Given the description of an element on the screen output the (x, y) to click on. 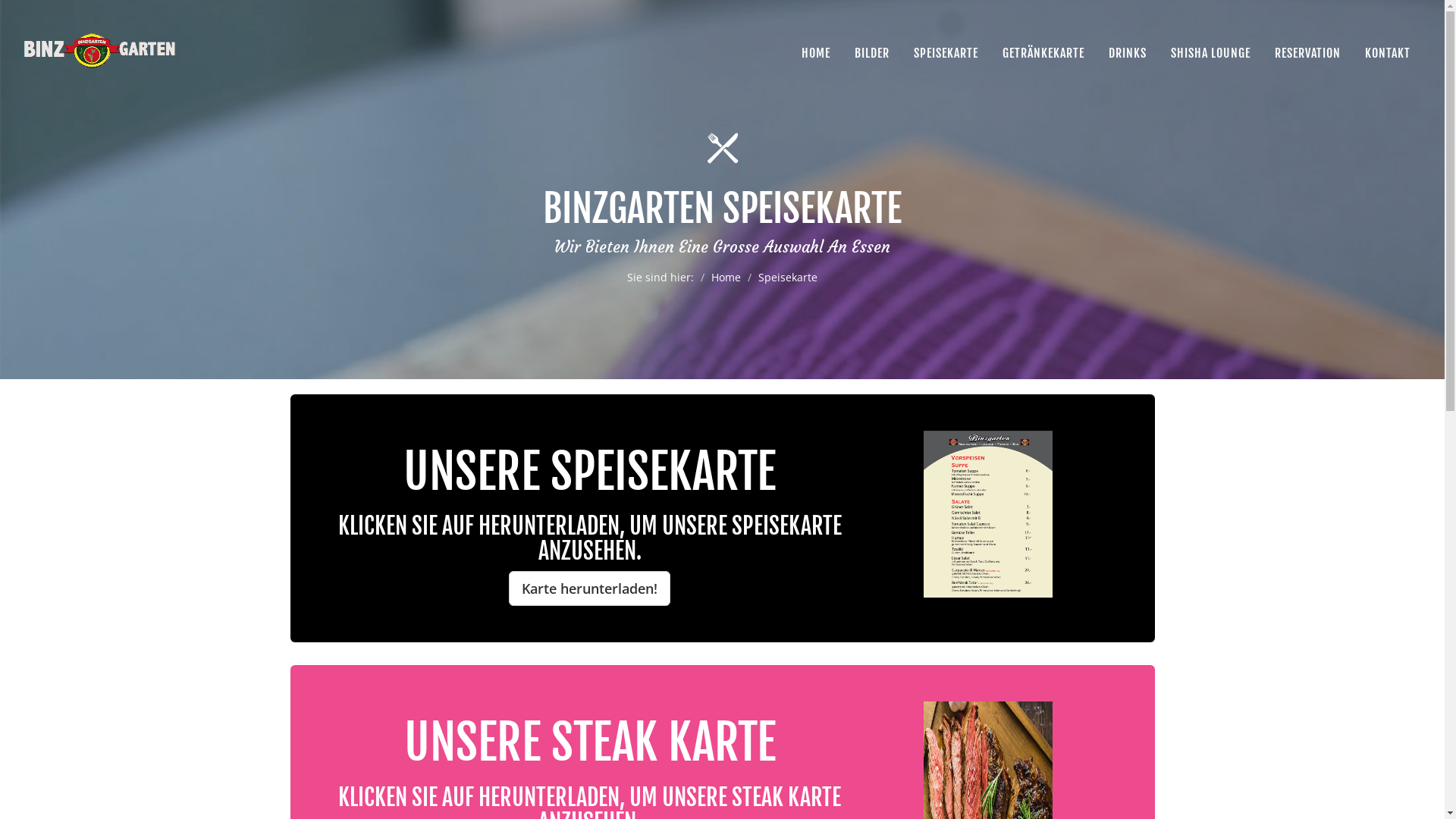
SHISHA LOUNGE Element type: text (1210, 52)
RESERVATION Element type: text (1307, 52)
HOME Element type: text (815, 52)
Karte herunterladen! Element type: text (589, 588)
BILDER Element type: text (871, 52)
SPEISEKARTE Element type: text (945, 52)
KONTAKT Element type: text (1387, 52)
DRINKS Element type: text (1127, 52)
Home Element type: text (725, 276)
